Given the description of an element on the screen output the (x, y) to click on. 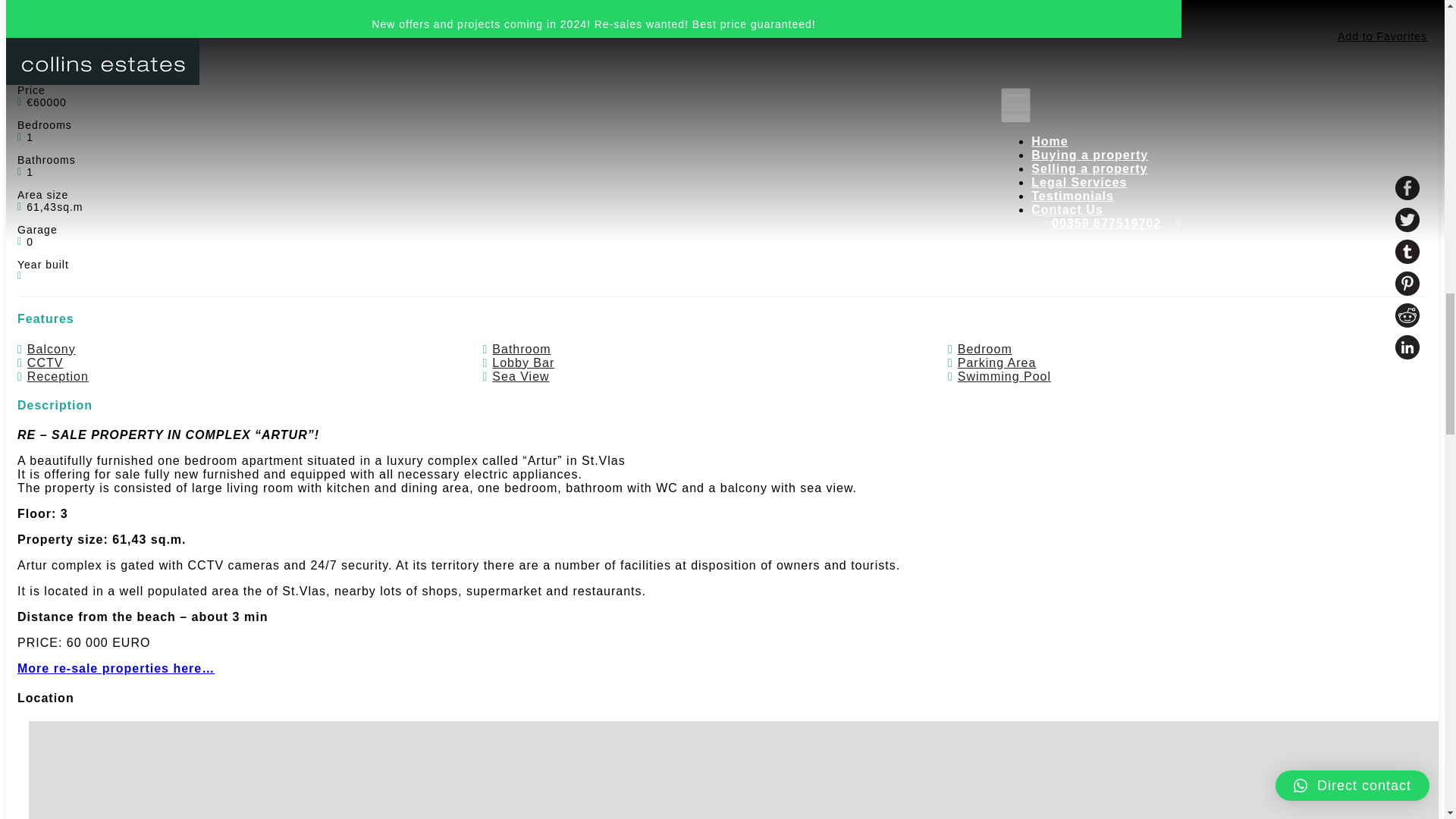
Parking Area (997, 363)
Bathroom (521, 349)
Reception (57, 377)
Balcony (51, 349)
Sea View (520, 377)
Favorite (1327, 36)
Lobby Bar (523, 363)
Add to Favorites (1382, 36)
Bedroom (984, 349)
CCTV (45, 363)
